Given the description of an element on the screen output the (x, y) to click on. 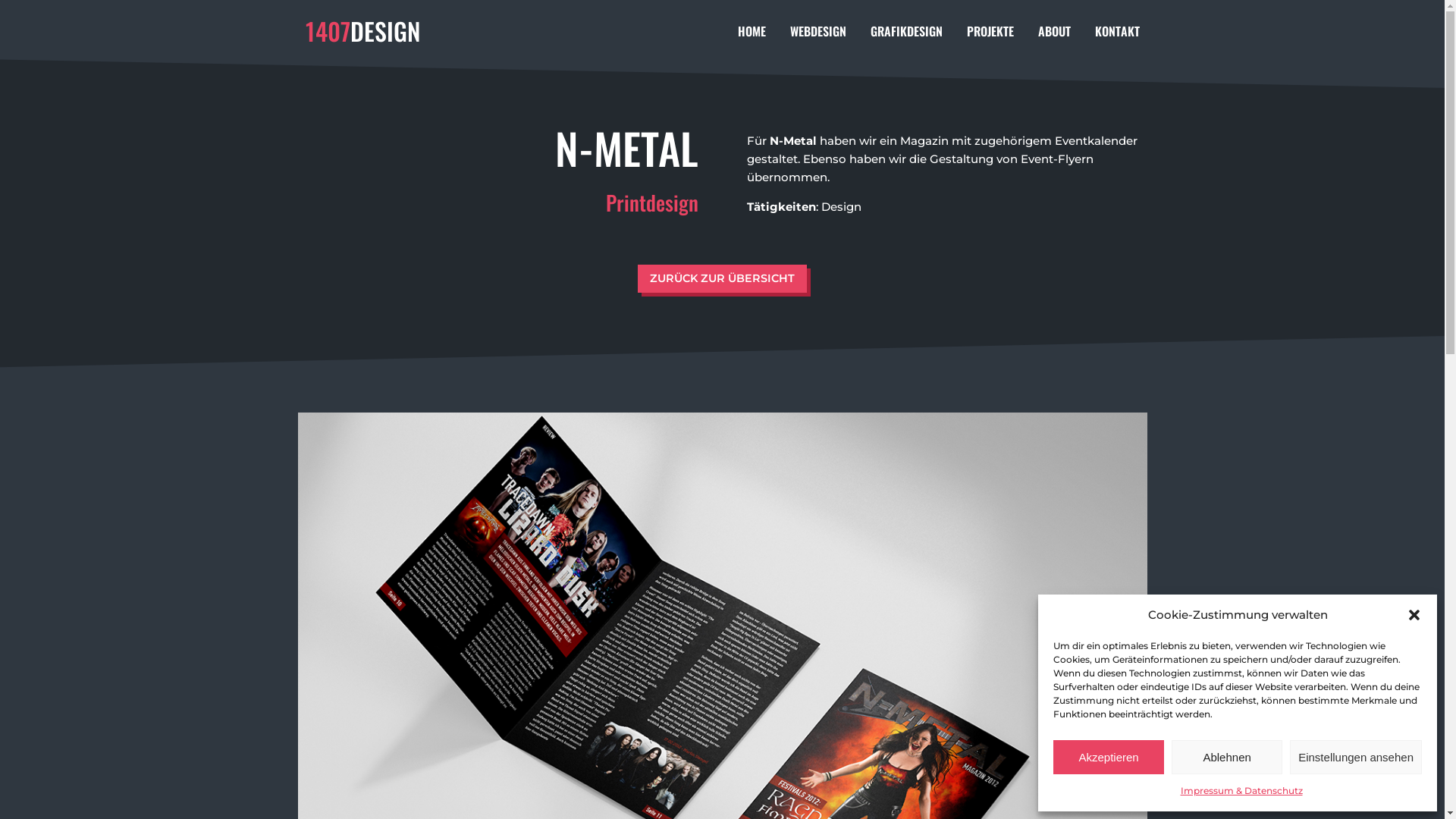
1407DESIGN Element type: text (361, 30)
WEBDESIGN Element type: text (818, 36)
ABOUT Element type: text (1053, 36)
PROJEKTE Element type: text (989, 36)
Ablehnen Element type: text (1226, 757)
Einstellungen ansehen Element type: text (1355, 757)
Impressum & Datenschutz Element type: text (1240, 790)
KONTAKT Element type: text (1117, 36)
Akzeptieren Element type: text (1108, 757)
GRAFIKDESIGN Element type: text (906, 36)
HOME Element type: text (751, 36)
